Given the description of an element on the screen output the (x, y) to click on. 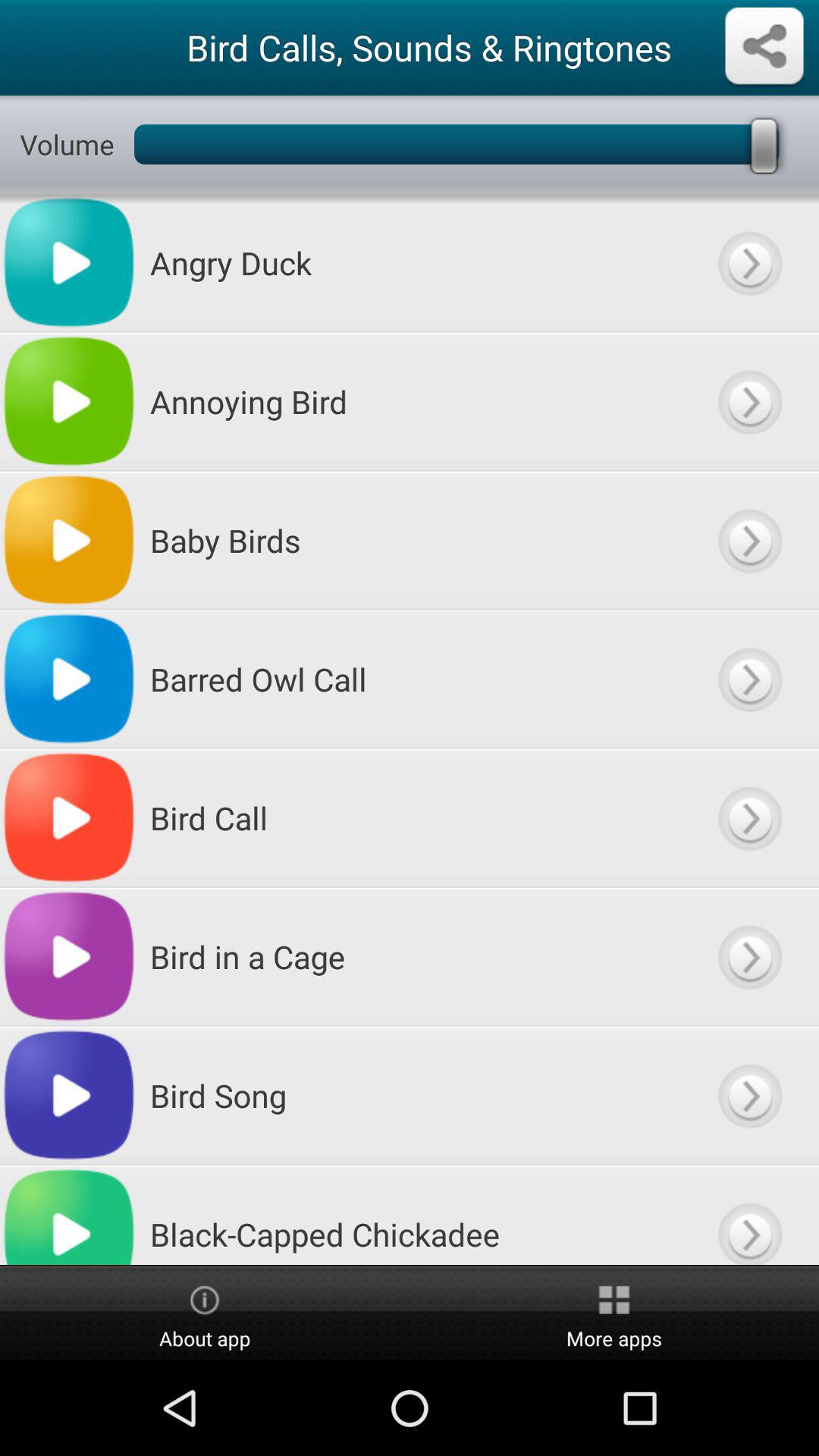
scher button (764, 47)
